Given the description of an element on the screen output the (x, y) to click on. 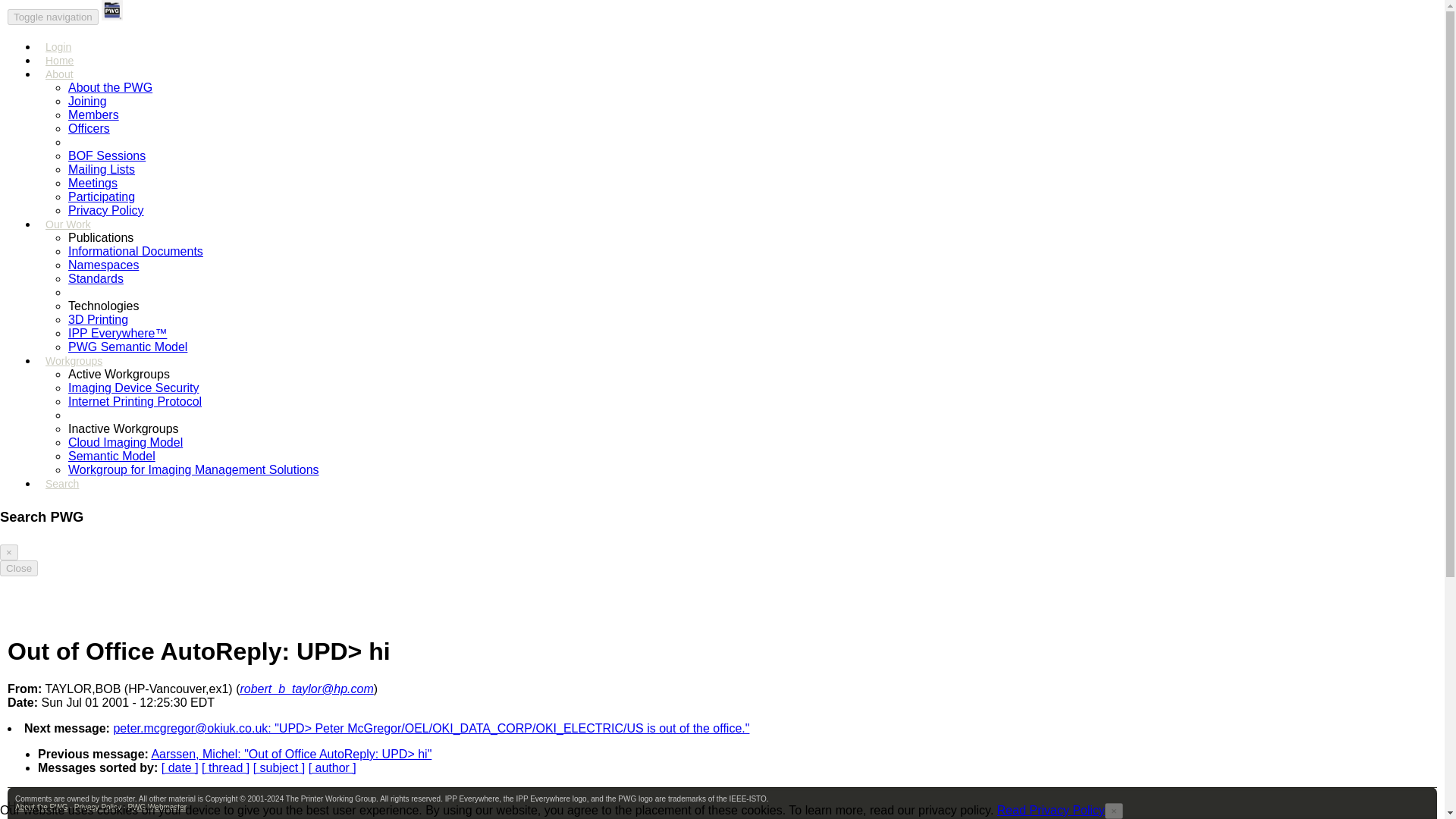
Cloud Imaging Model (125, 441)
Meetings (92, 182)
3D Printing (98, 318)
Semantic Model (111, 455)
Privacy Policy (106, 210)
Informational Documents (135, 250)
Members (93, 114)
Close (18, 568)
About the PWG (110, 87)
Internet Printing Protocol (135, 400)
Workgroup for Imaging Management Solutions (193, 469)
PWG Semantic Model (127, 346)
Search (61, 489)
Namespaces (103, 264)
Login (57, 52)
